Given the description of an element on the screen output the (x, y) to click on. 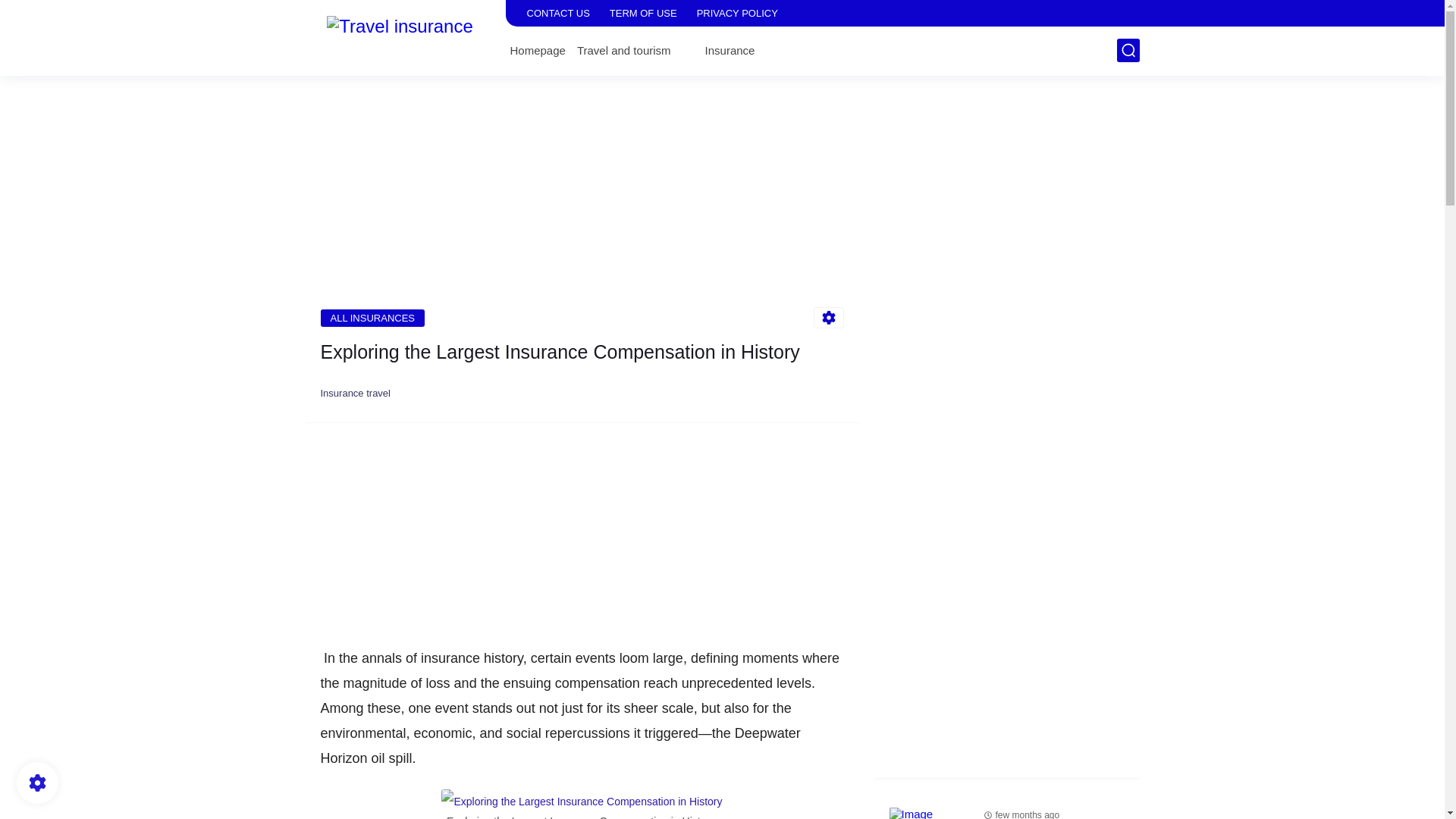
PRIVACY POLICY (737, 12)
CONTACT US (557, 12)
Homepage (536, 50)
Homepage (536, 50)
Travel and tourism (623, 50)
Insurance (729, 50)
few months ago (1026, 814)
TERM OF USE (643, 12)
Exploring the Largest Insurance Compensation in History (581, 800)
Travel and tourism (623, 50)
